Given the description of an element on the screen output the (x, y) to click on. 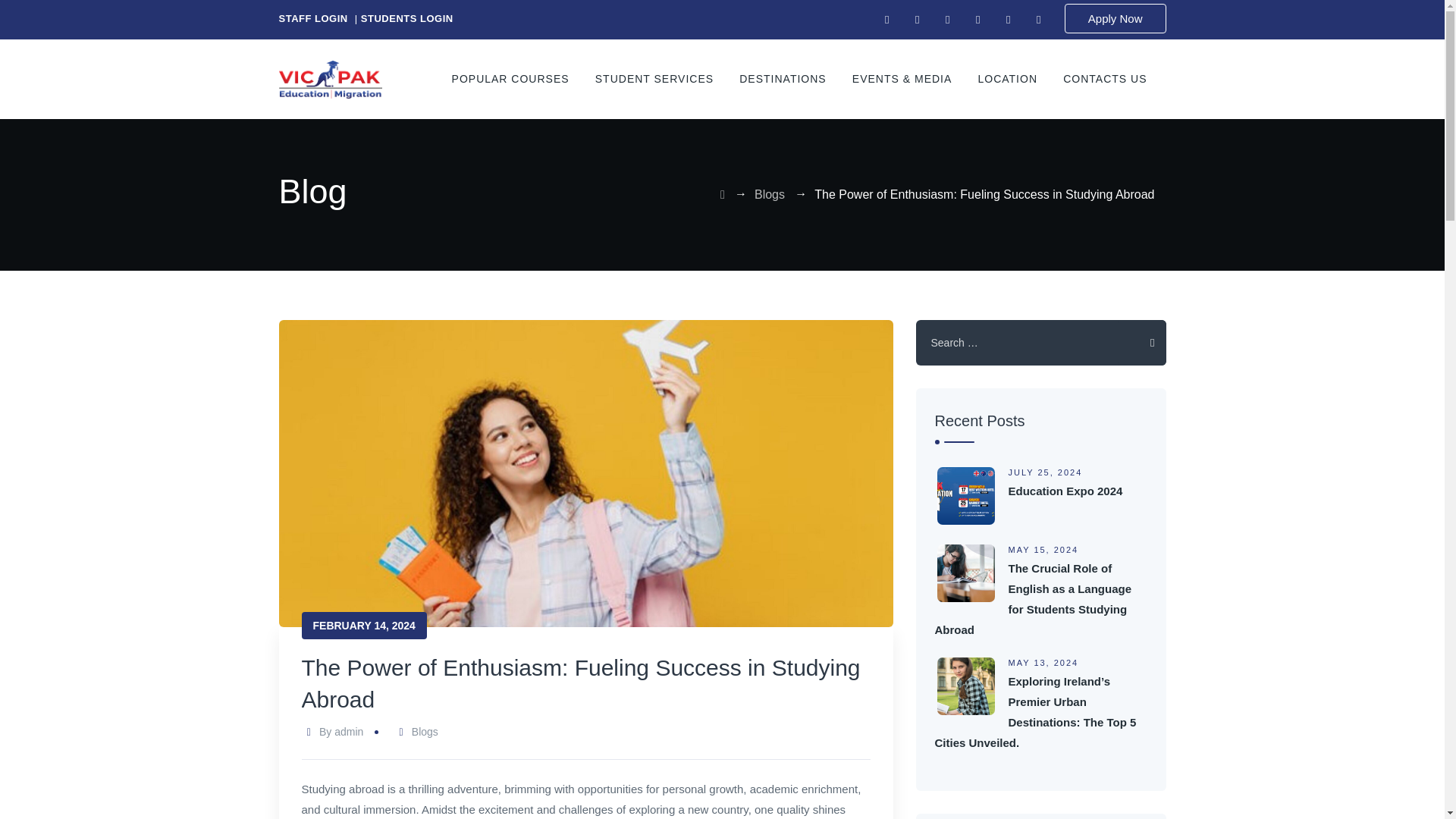
Search (1142, 342)
Search (1142, 342)
VICPAK Consultant (330, 78)
Go to VICPAK Consultant. (722, 194)
Apply Now (1115, 18)
STUDENTS LOGIN (406, 18)
STAFF LOGIN (313, 18)
Go to the Blogs Category archives. (769, 194)
DESTINATIONS (782, 78)
STUDENT SERVICES (654, 78)
POPULAR COURSES (510, 78)
